Given the description of an element on the screen output the (x, y) to click on. 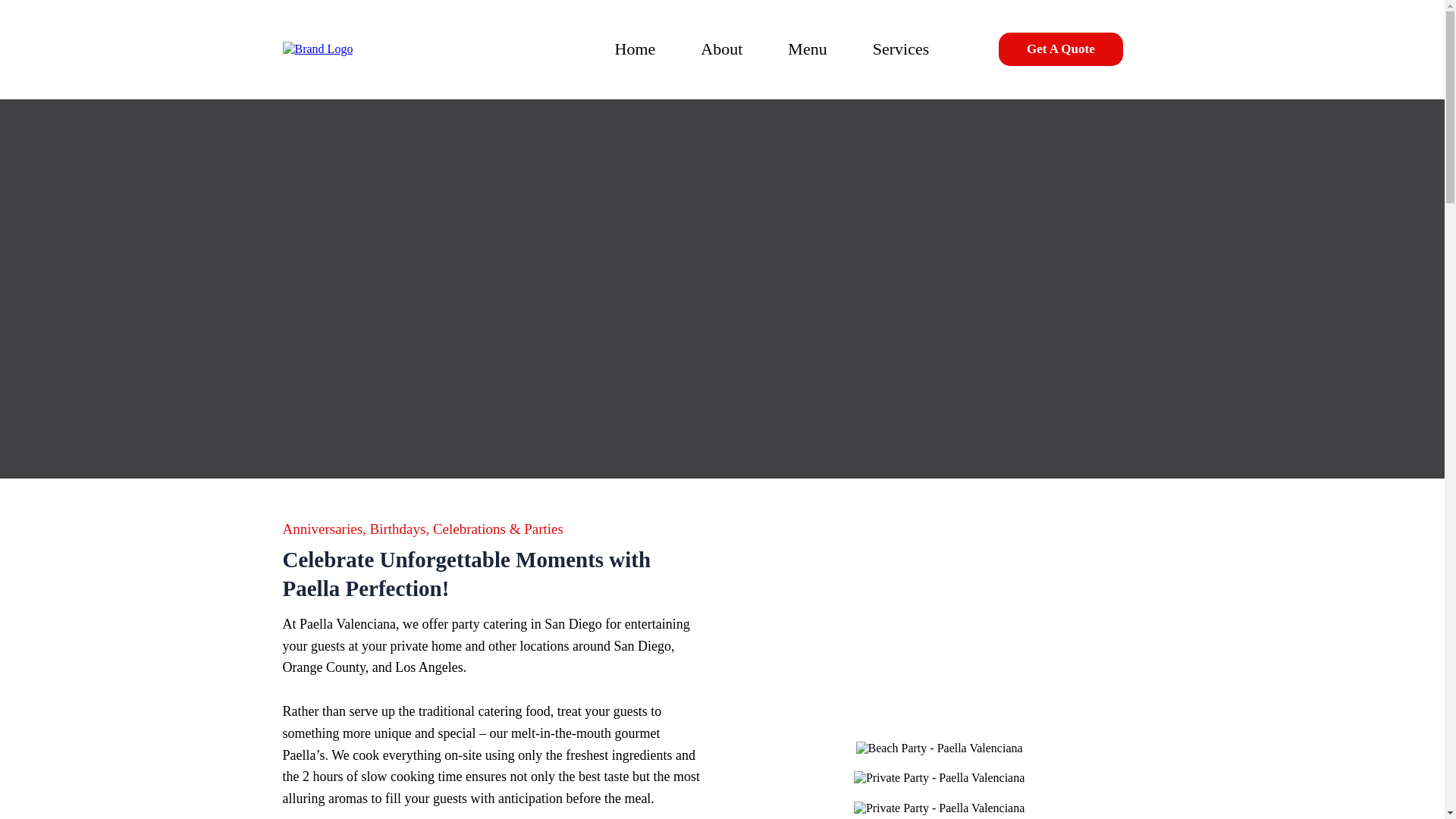
About (721, 49)
Services (901, 49)
Get A Quote (1060, 49)
Home (635, 49)
Menu (806, 49)
